Given the description of an element on the screen output the (x, y) to click on. 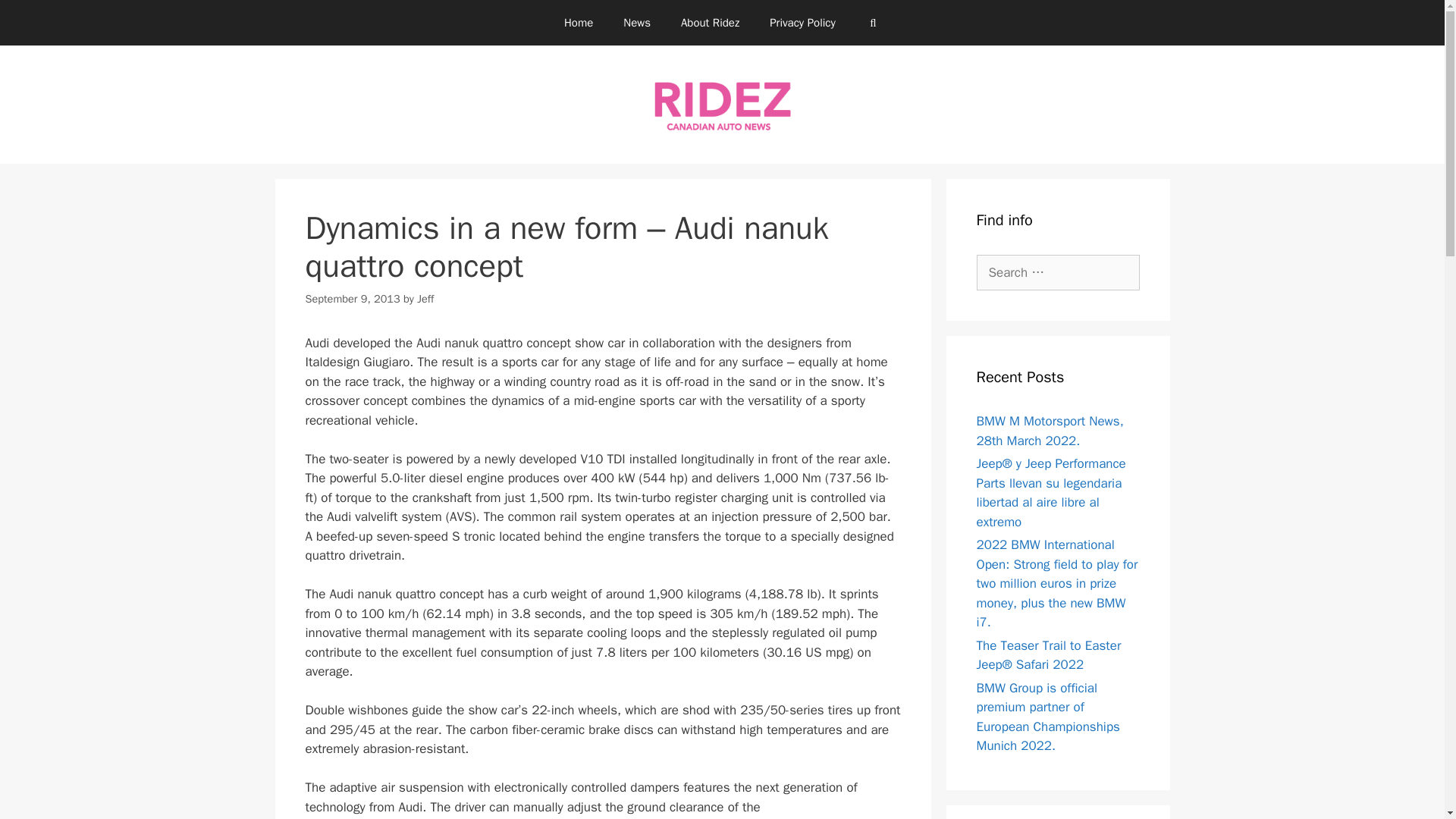
Search for: (1058, 272)
Home (578, 22)
Privacy Policy (802, 22)
View all posts by Jeff (424, 298)
Search (35, 18)
Jeff (424, 298)
About Ridez (709, 22)
News (636, 22)
